Given the description of an element on the screen output the (x, y) to click on. 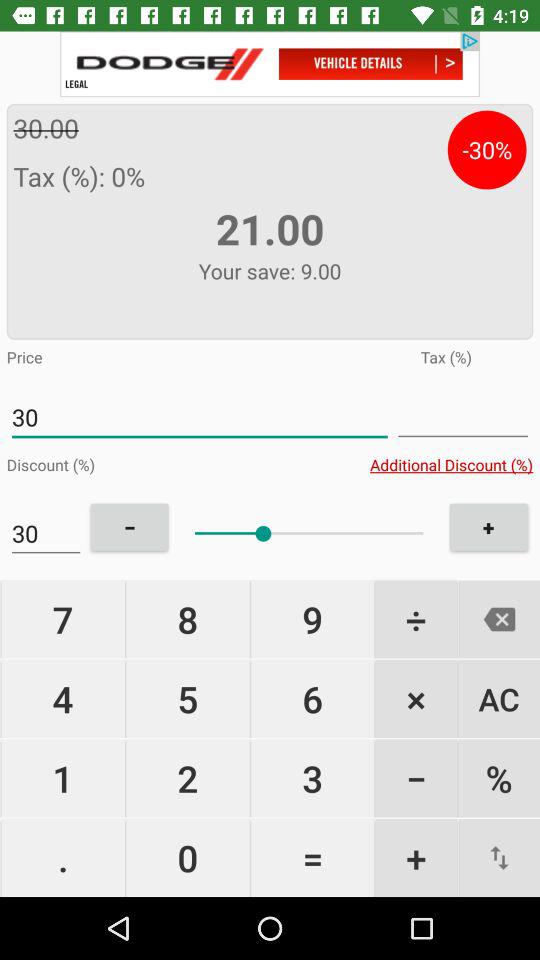
click advertisement (270, 64)
